Given the description of an element on the screen output the (x, y) to click on. 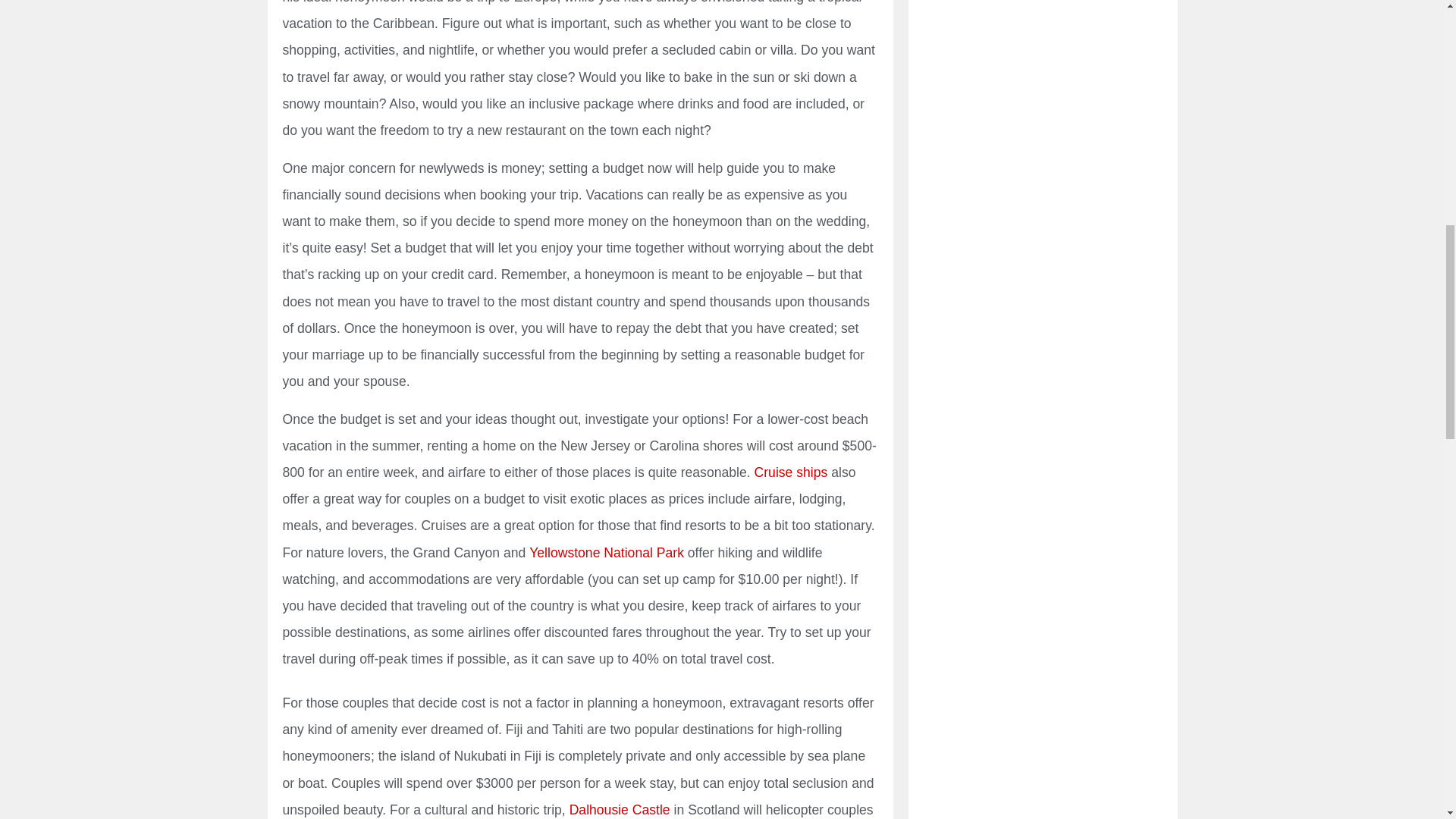
Castles to See in England (619, 809)
What You Need to Know about Honeymoon Cruises (791, 472)
Visiting Yellowstone National Park (606, 552)
